Given the description of an element on the screen output the (x, y) to click on. 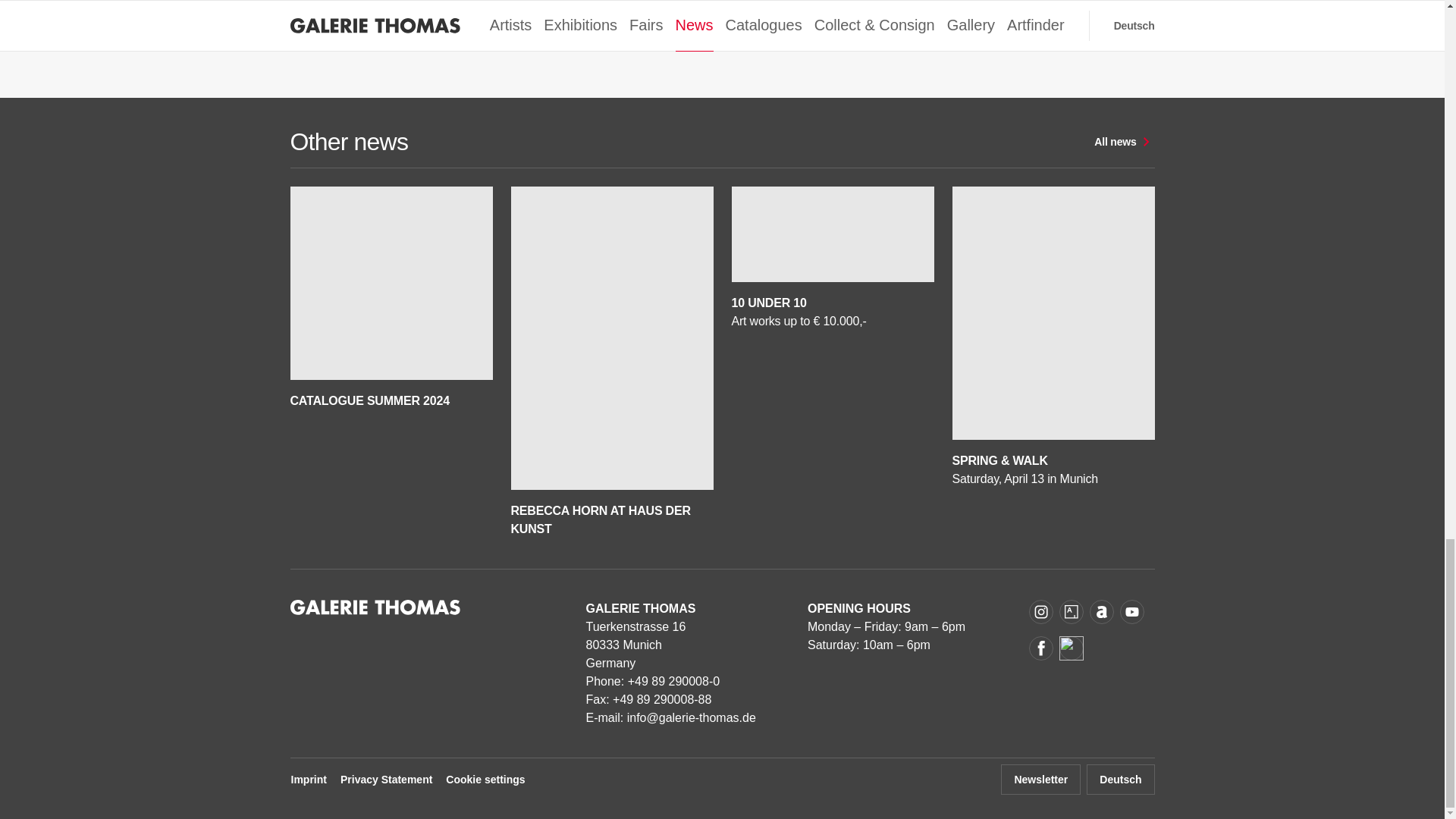
ArtNet (1101, 611)
All news (1124, 141)
CATALOGUE SUMMER 2024 (390, 298)
Newsletter (1040, 779)
Facebook (1040, 648)
Privacy Statement (385, 779)
YouTube (1131, 611)
Artsy (1071, 611)
Galerie Thomas (374, 610)
Imprint (307, 779)
Ocula (1071, 648)
Instagram (1040, 611)
Deutsch (1120, 779)
